Given the description of an element on the screen output the (x, y) to click on. 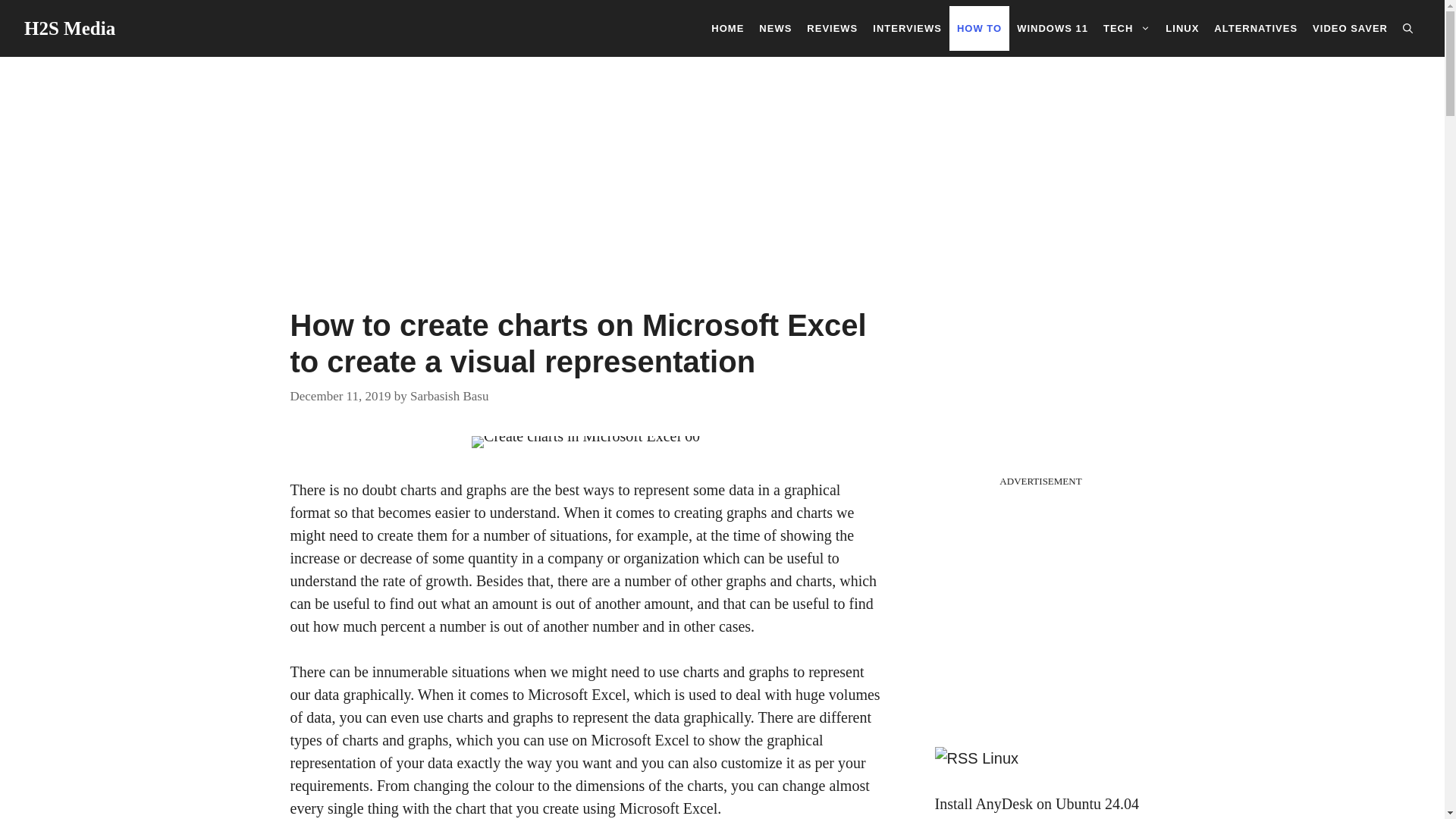
LINUX (1182, 27)
ALTERNATIVES (1255, 27)
View all posts by Sarbasish Basu (448, 395)
TECH (1126, 27)
INTERVIEWS (906, 27)
REVIEWS (831, 27)
HOW TO (979, 27)
WINDOWS 11 (1052, 27)
NEWS (775, 27)
HOME (727, 27)
